Given the description of an element on the screen output the (x, y) to click on. 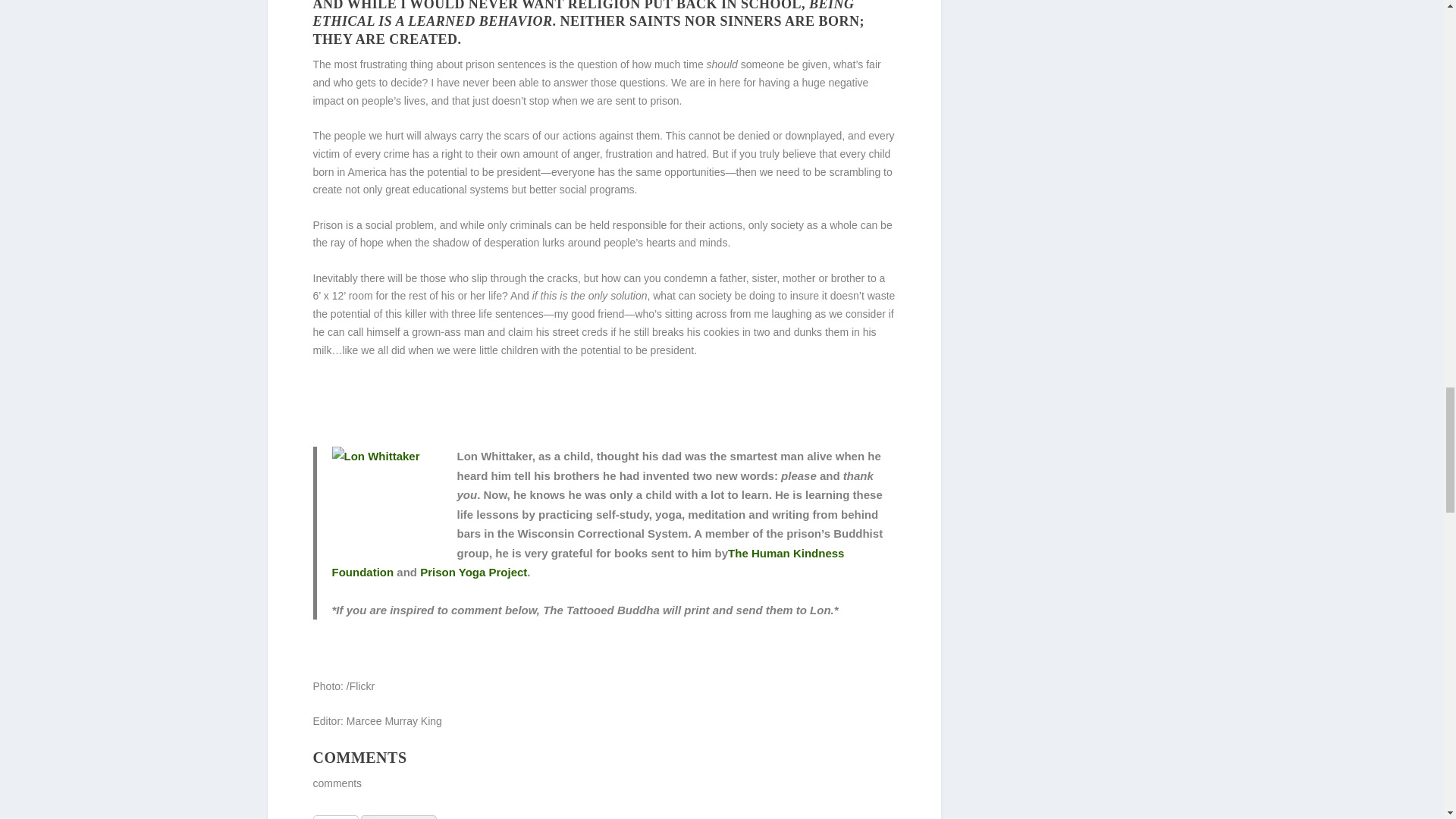
Prison Yoga Project (473, 571)
Recent Posts (398, 816)
The Human Kindness Foundation (587, 563)
Author (335, 816)
